Given the description of an element on the screen output the (x, y) to click on. 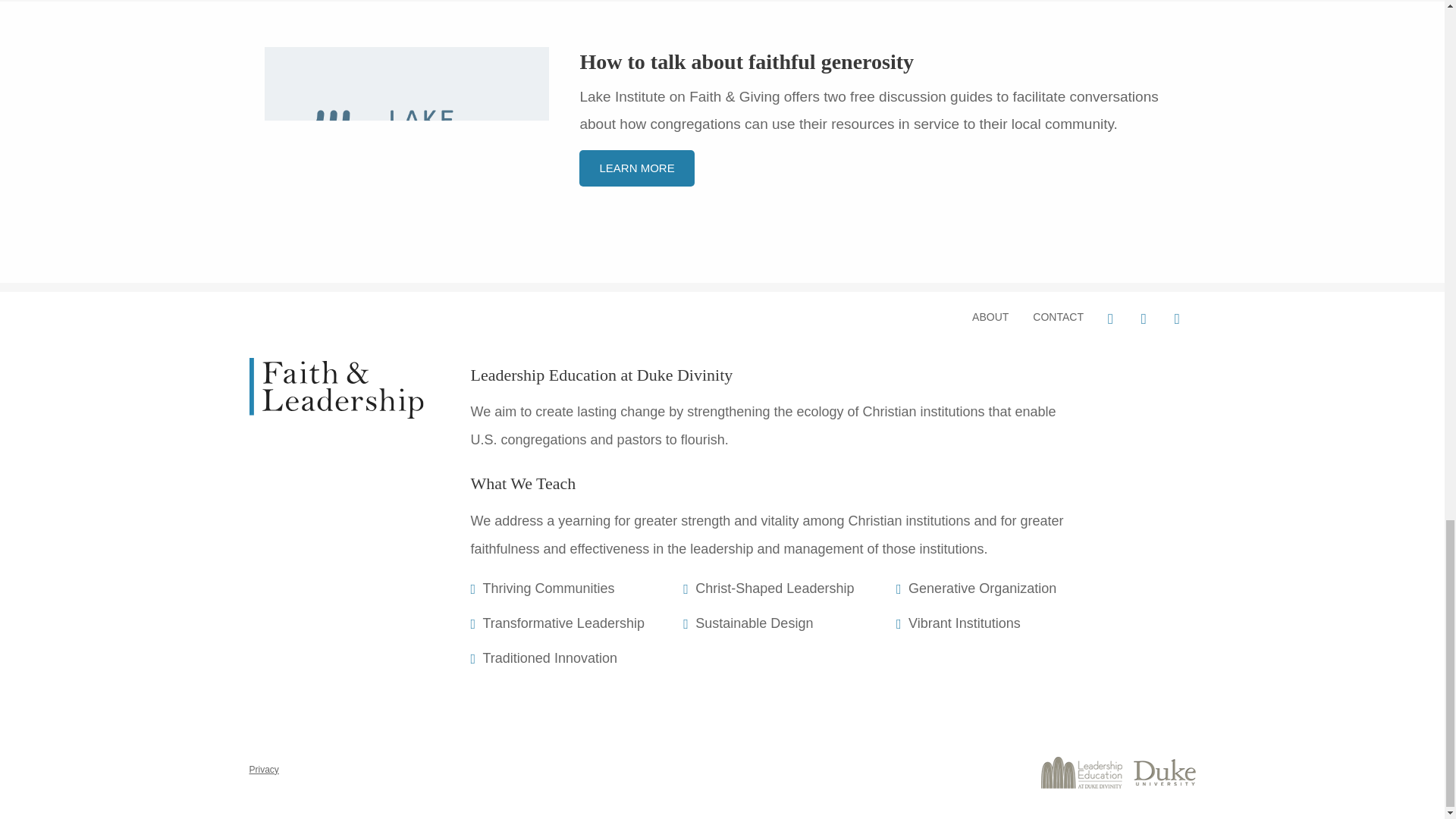
Christ-Shaped Leadership (795, 589)
Thriving Communities (581, 589)
Leadership Education at Duke Divinity (601, 374)
Transformative Leadership (581, 624)
How to talk about faithful generosity (746, 61)
ABOUT (989, 316)
Privacy (268, 769)
CONTACT (1058, 316)
 TWITTER (1145, 318)
What We Teach (522, 483)
